Given the description of an element on the screen output the (x, y) to click on. 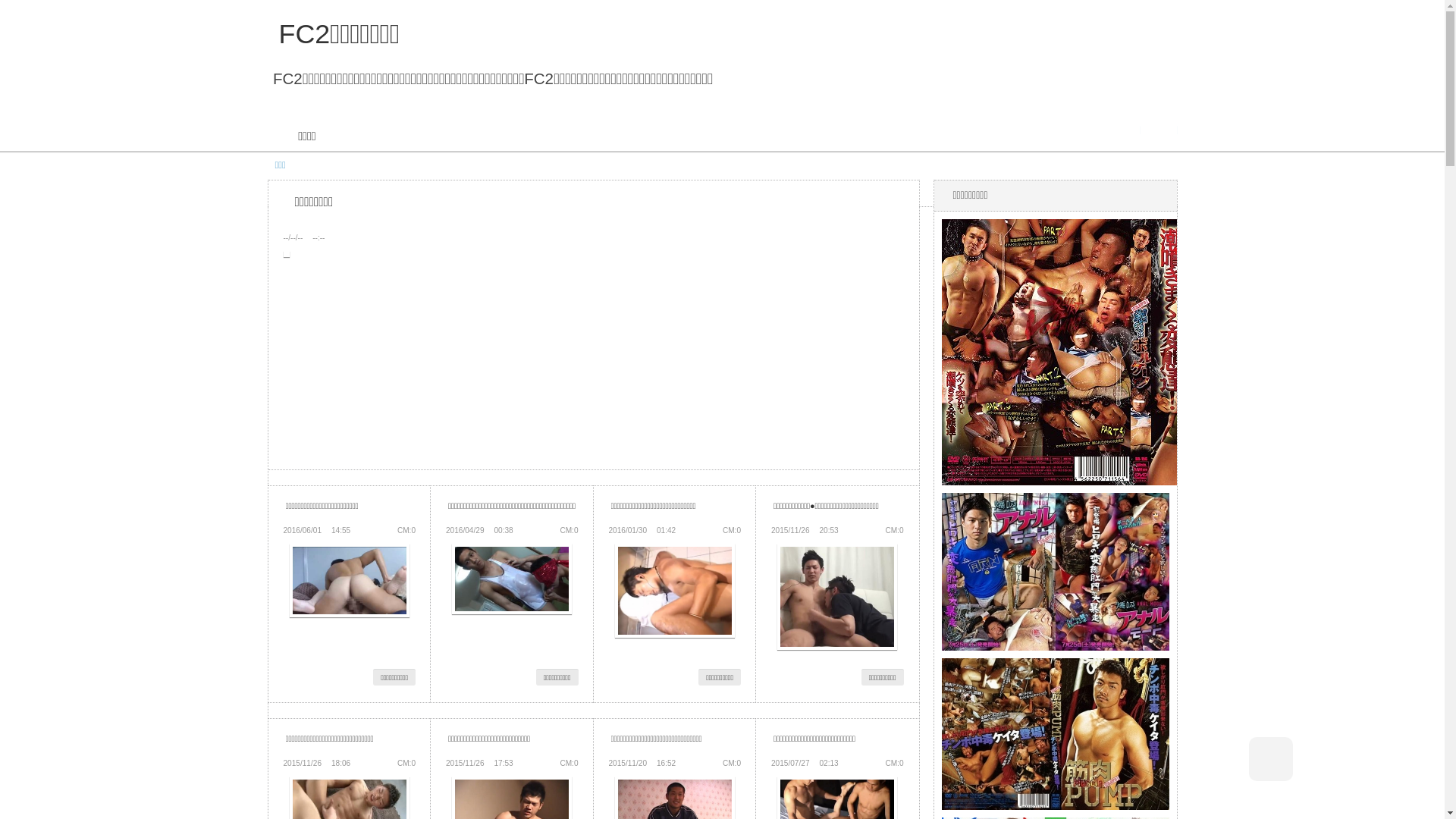
CM:0 Element type: text (731, 530)
CM:0 Element type: text (568, 763)
CM:0 Element type: text (893, 530)
CM:0 Element type: text (406, 530)
CM:0 Element type: text (731, 763)
CM:0 Element type: text (406, 763)
CM:0 Element type: text (568, 530)
CM:0 Element type: text (893, 763)
